Given the description of an element on the screen output the (x, y) to click on. 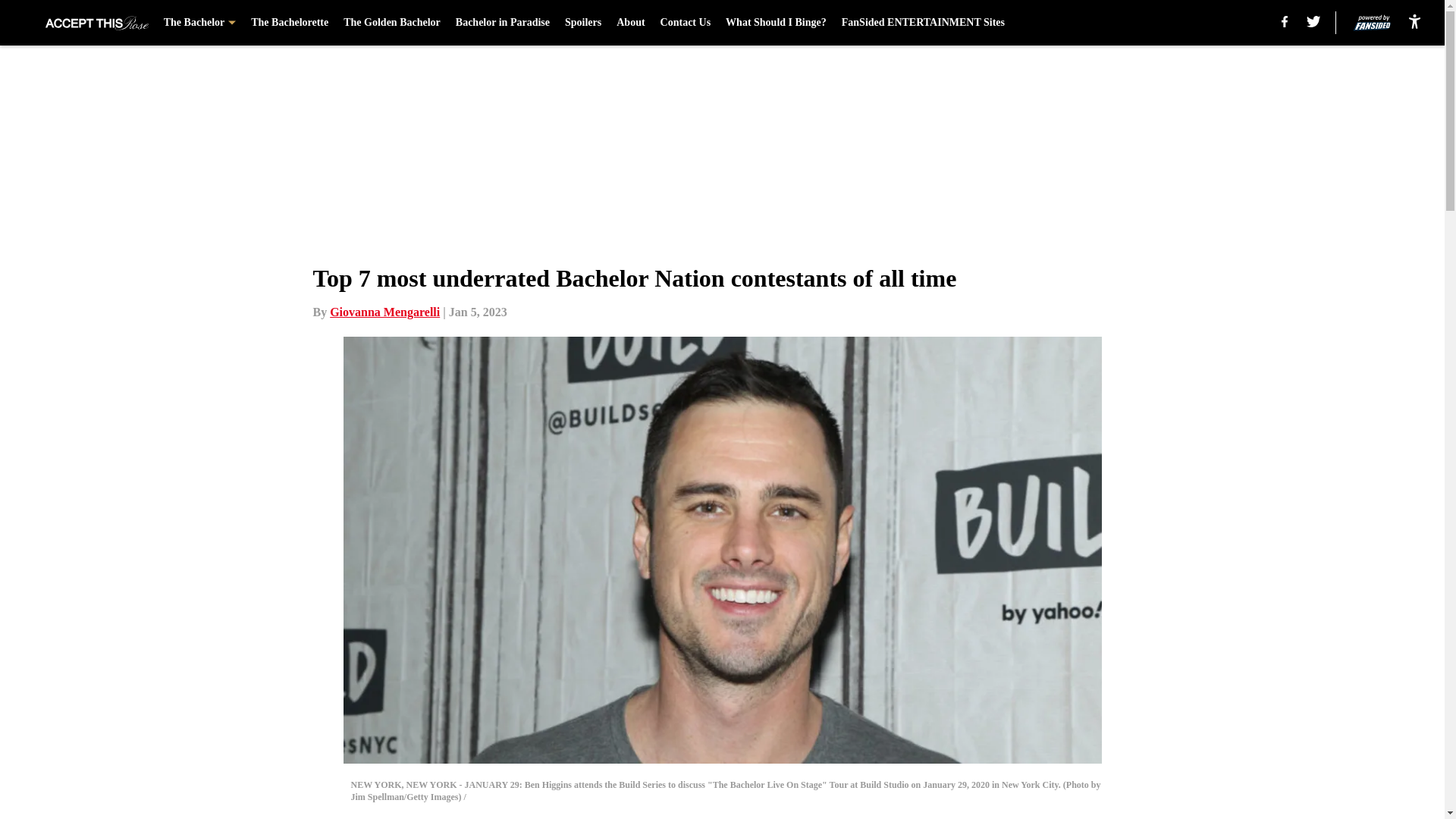
About (630, 22)
Bachelor in Paradise (502, 22)
Contact Us (686, 22)
Spoilers (582, 22)
What Should I Binge? (776, 22)
The Golden Bachelor (392, 22)
FanSided ENTERTAINMENT Sites (922, 22)
The Bachelorette (289, 22)
Giovanna Mengarelli (384, 311)
